Given the description of an element on the screen output the (x, y) to click on. 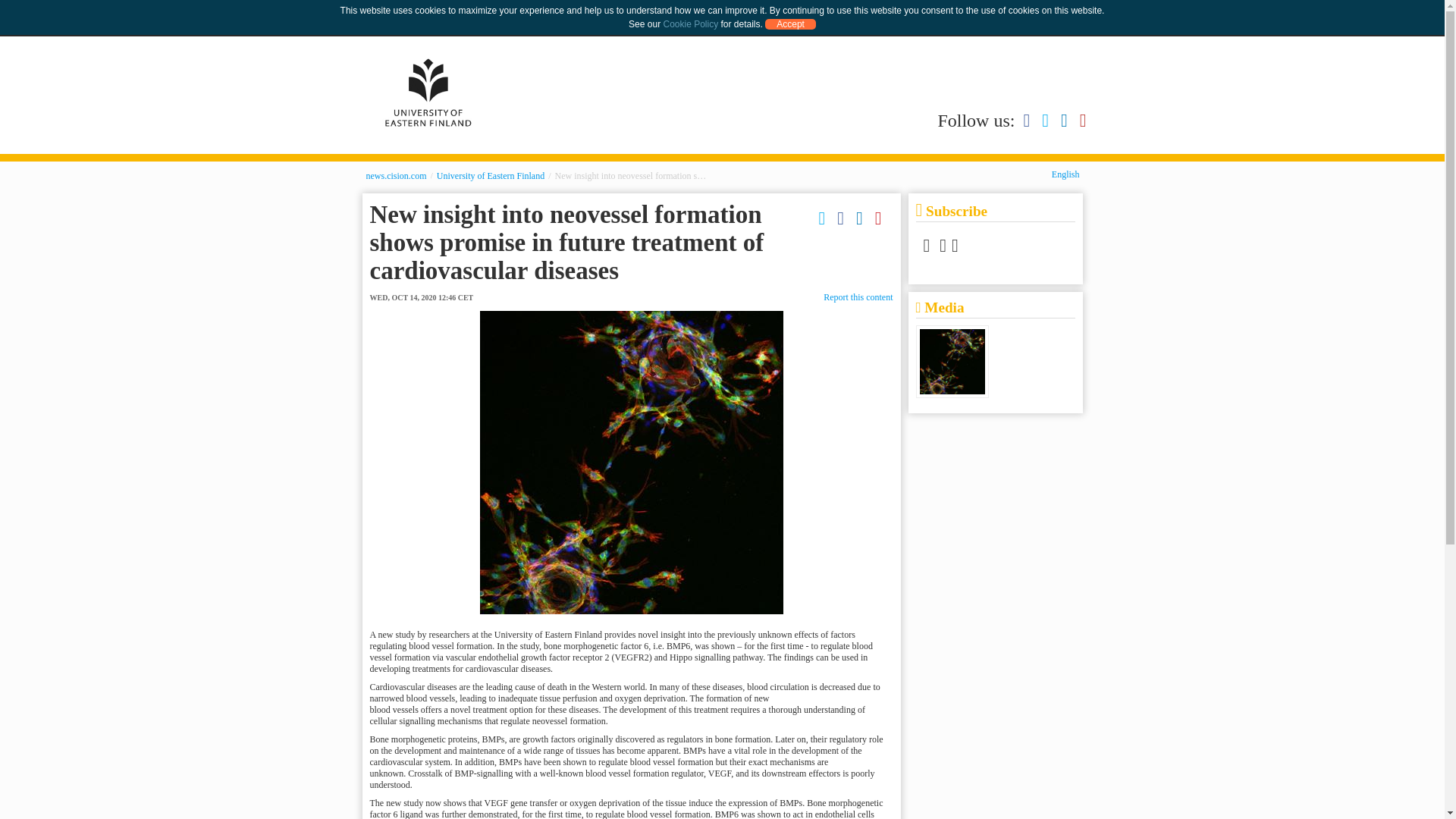
Report this content (858, 296)
news.cision.com (395, 175)
University of Eastern Finland (490, 175)
news.cision.com (395, 175)
English (1065, 173)
University of Eastern Finland (490, 175)
Cookie Policy (689, 23)
University of Eastern Finland (427, 93)
